Given the description of an element on the screen output the (x, y) to click on. 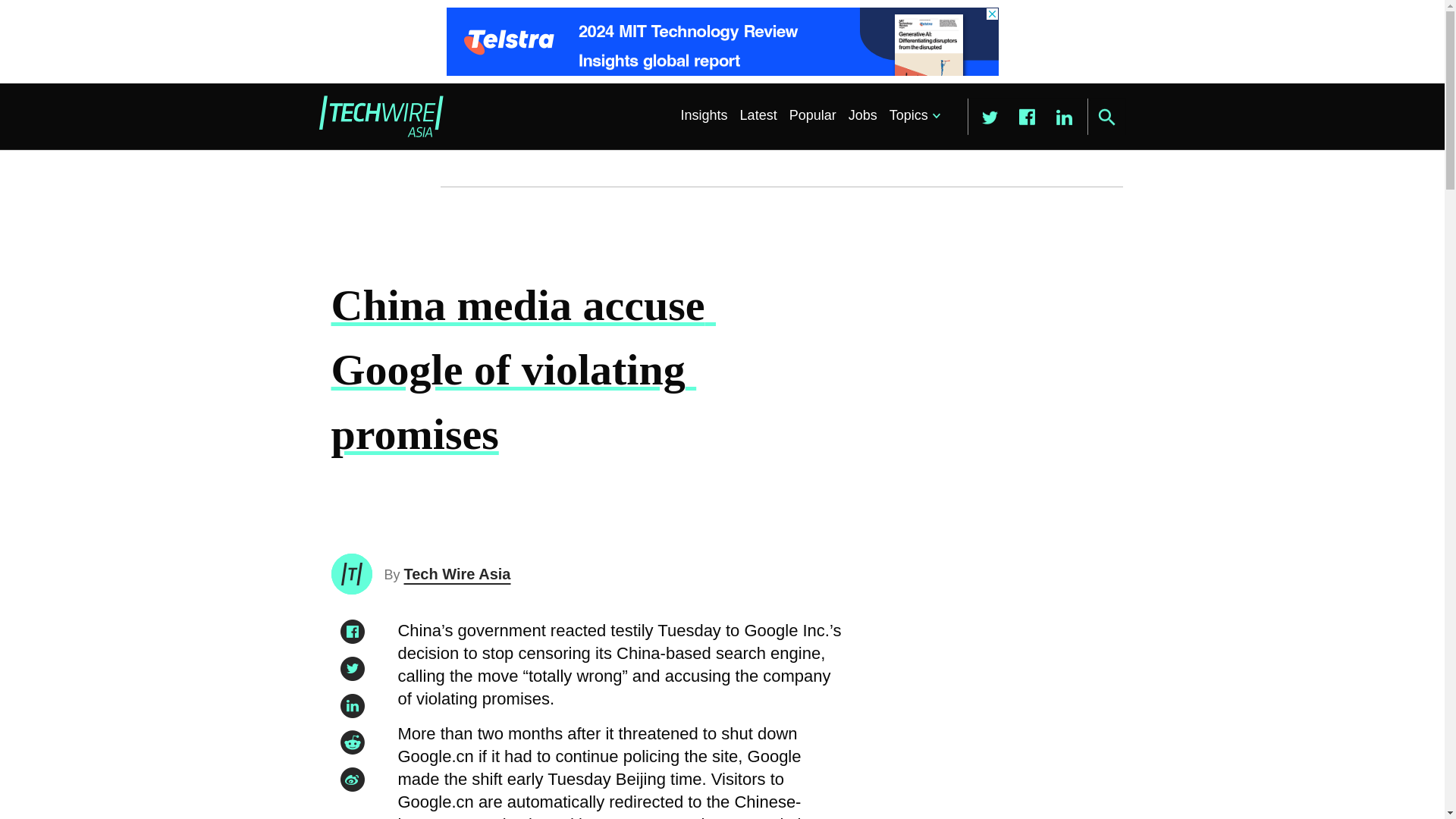
Topics (911, 115)
Insights (704, 115)
Popular (813, 115)
Jobs (863, 115)
Tech Wire Asia (457, 573)
3rd party ad content (988, 726)
3rd party ad content (721, 41)
Submit (1106, 116)
Submit (1106, 116)
Posts by Tech Wire Asia (457, 573)
